Given the description of an element on the screen output the (x, y) to click on. 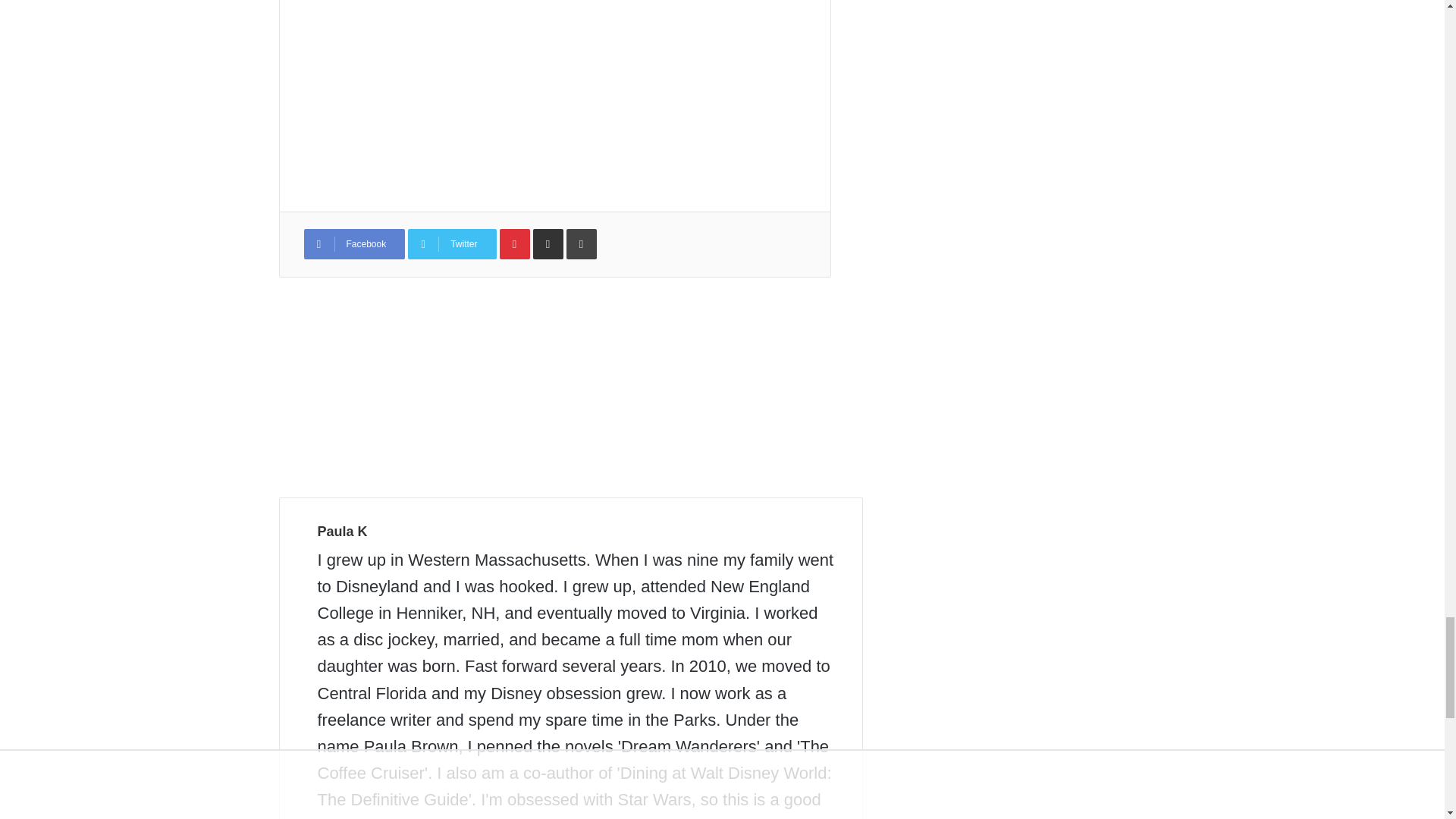
Paula K (341, 531)
Twitter (451, 244)
Share via Email (547, 244)
Facebook (353, 244)
Print (581, 244)
Pinterest (514, 244)
